Given the description of an element on the screen output the (x, y) to click on. 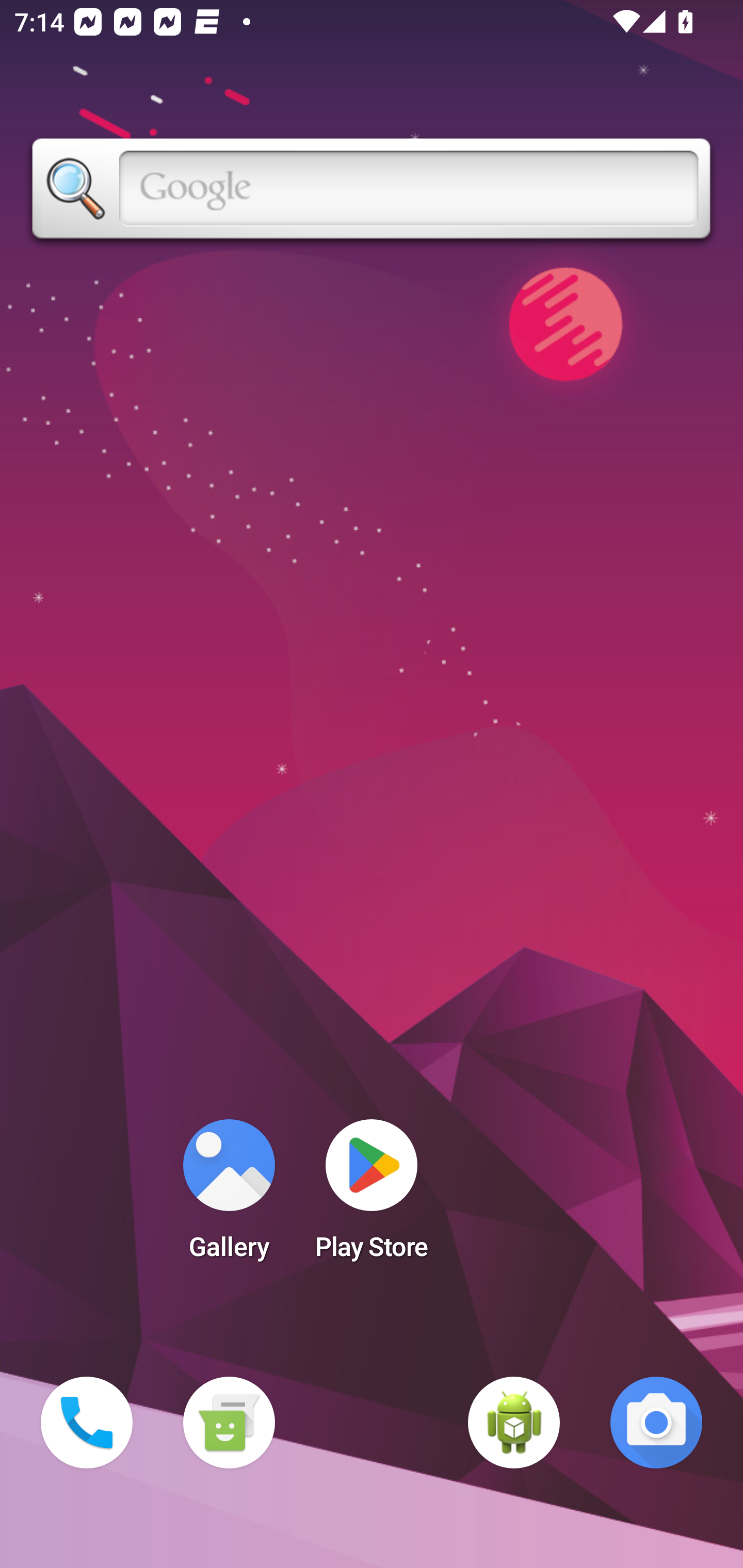
Gallery (228, 1195)
Play Store (371, 1195)
Phone (86, 1422)
Messaging (228, 1422)
WebView Browser Tester (513, 1422)
Camera (656, 1422)
